Given the description of an element on the screen output the (x, y) to click on. 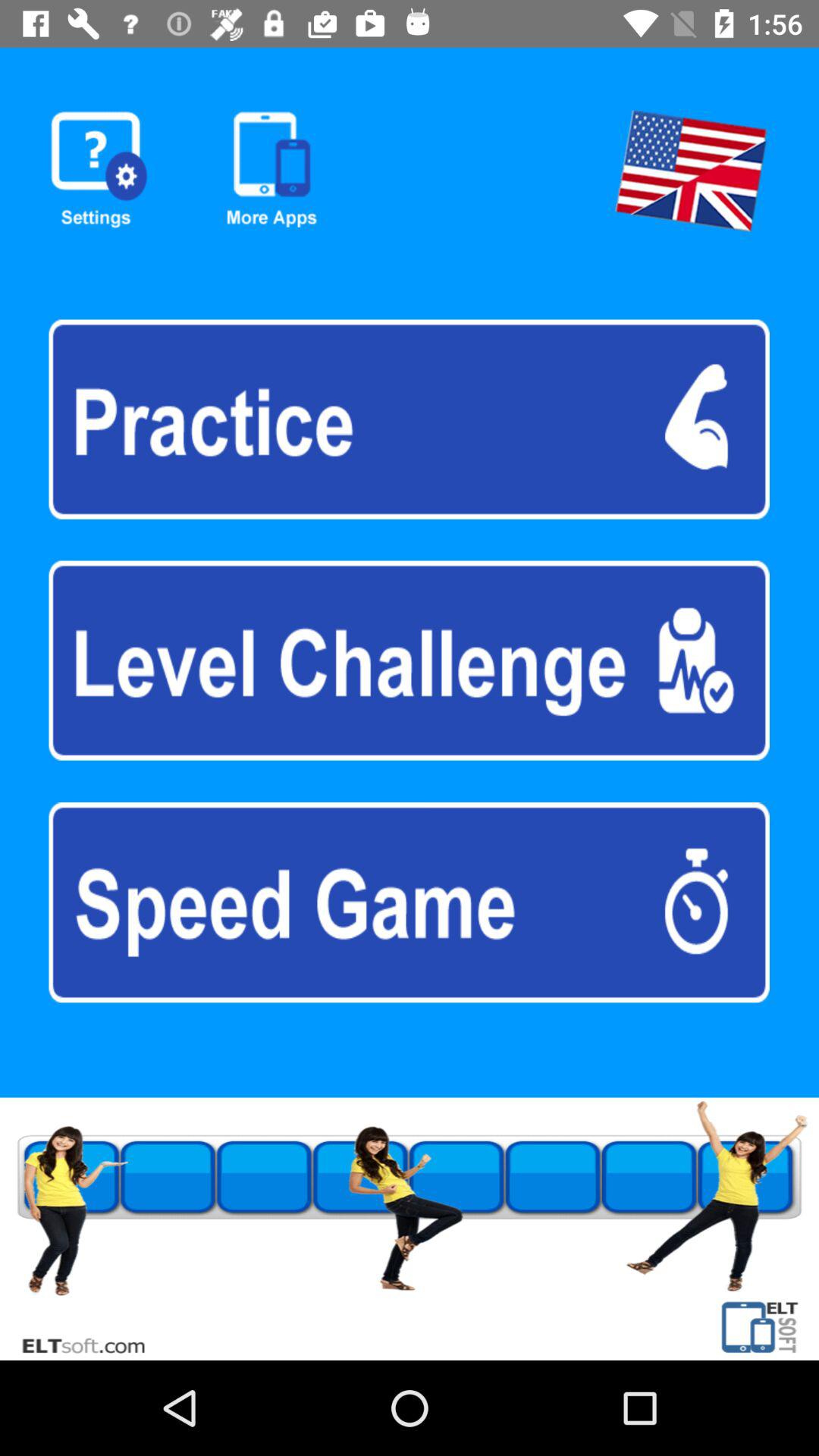
select the speed game (408, 902)
